Given the description of an element on the screen output the (x, y) to click on. 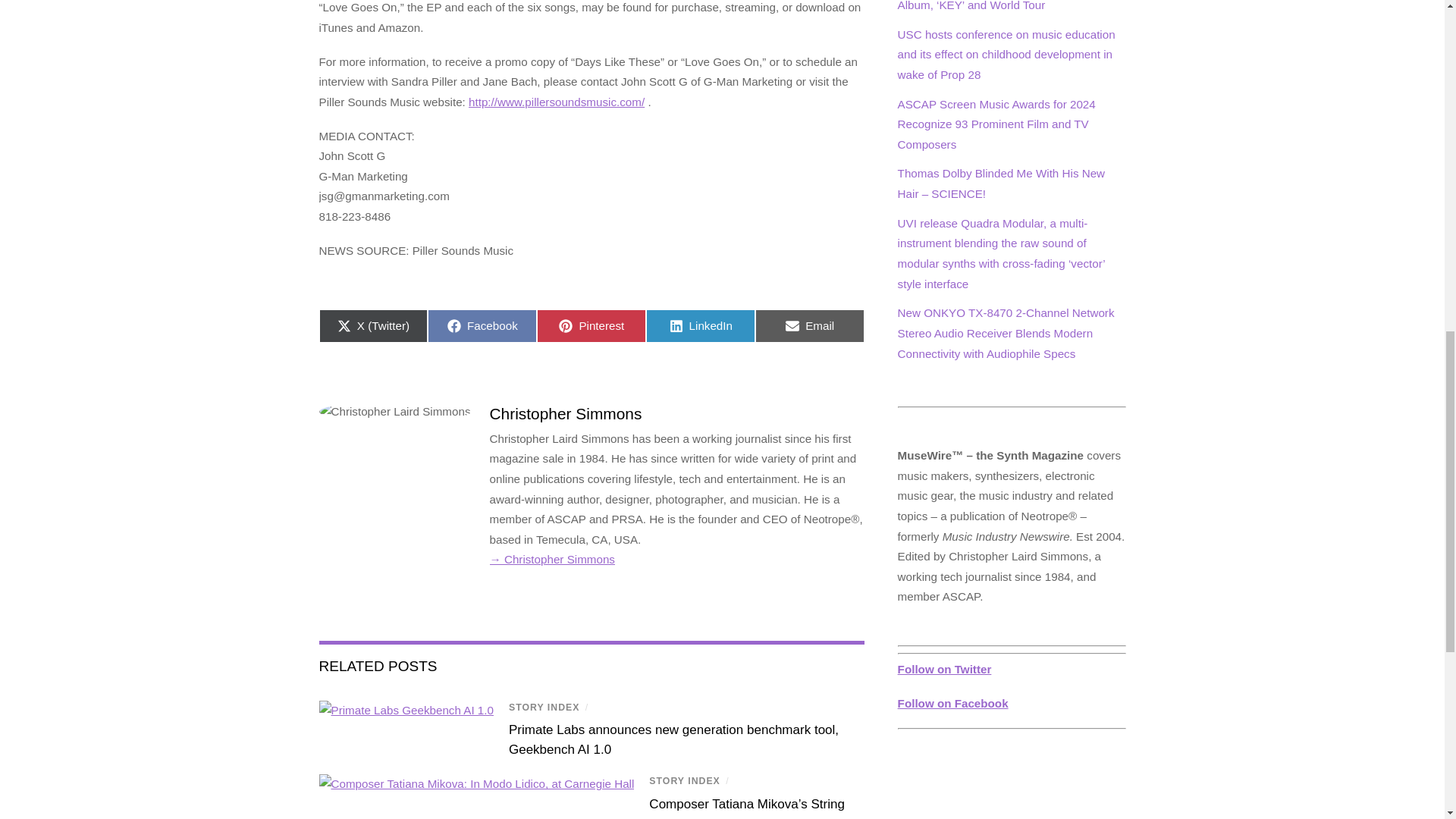
Twitter (591, 326)
Twitter (700, 326)
Christopher Simmons (953, 703)
